Given the description of an element on the screen output the (x, y) to click on. 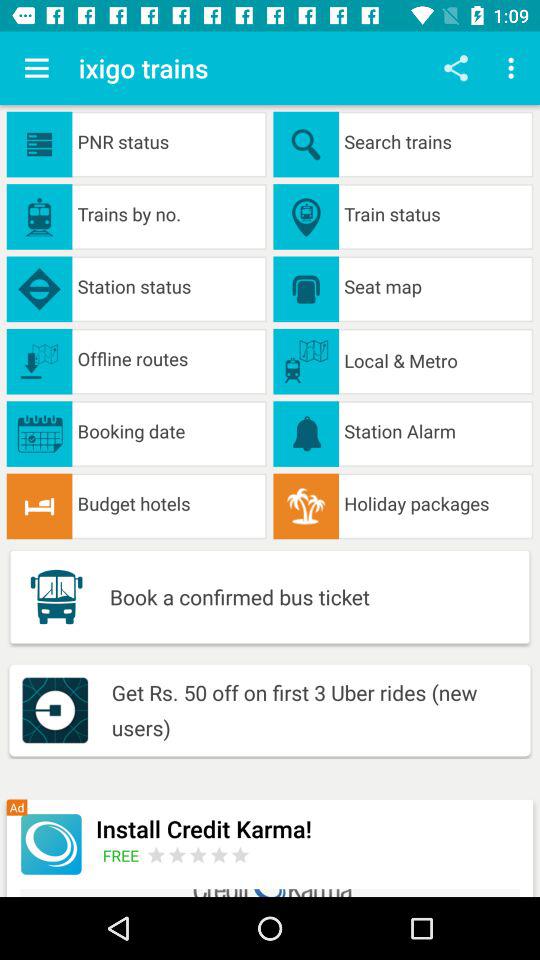
turn off free (123, 855)
